Given the description of an element on the screen output the (x, y) to click on. 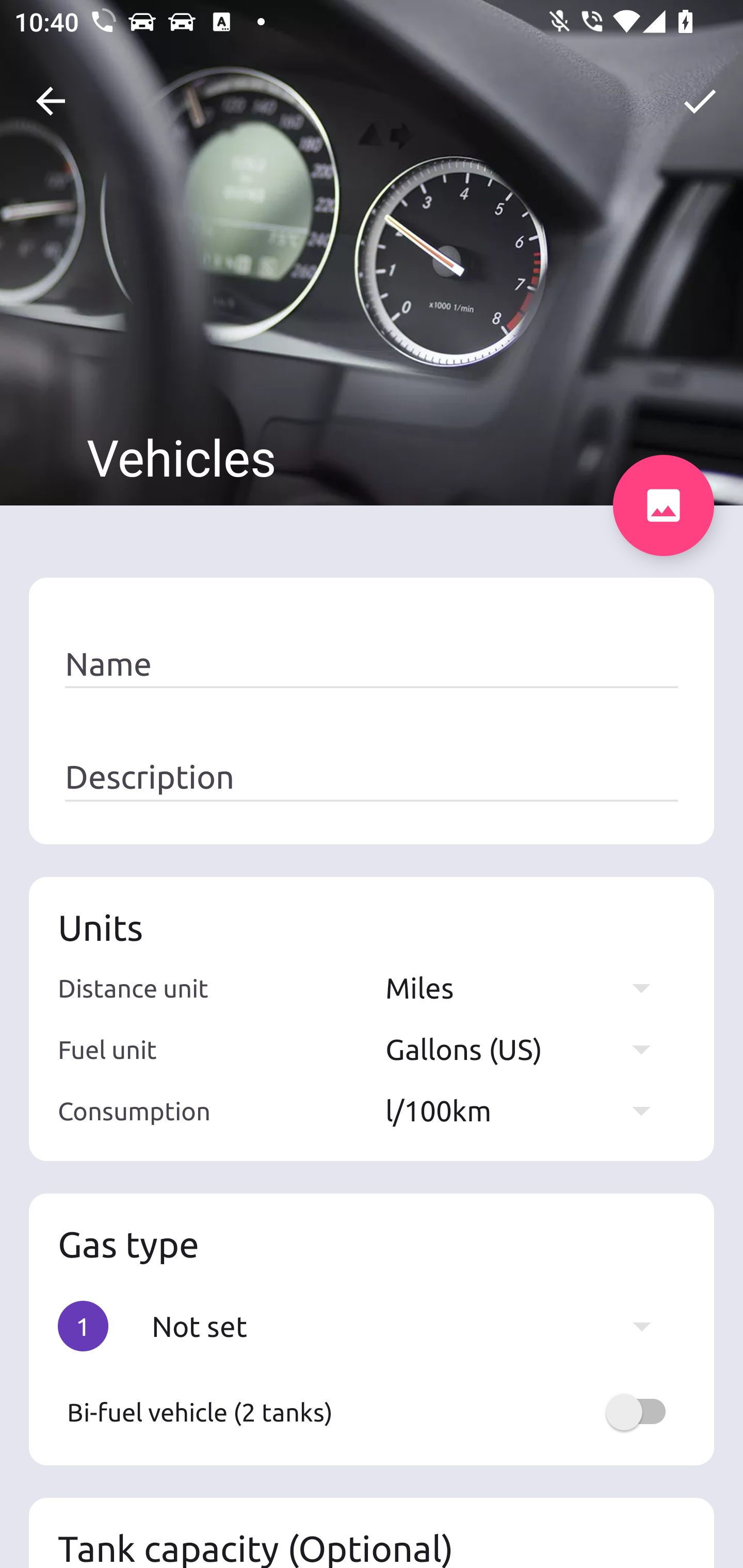
Navigate up (50, 101)
OK (699, 101)
Name (371, 664)
Description (371, 777)
Miles (527, 987)
Gallons (US) (527, 1048)
l/100km (527, 1110)
Not set (411, 1325)
Bi-fuel vehicle (2 tanks) (371, 1411)
